Given the description of an element on the screen output the (x, y) to click on. 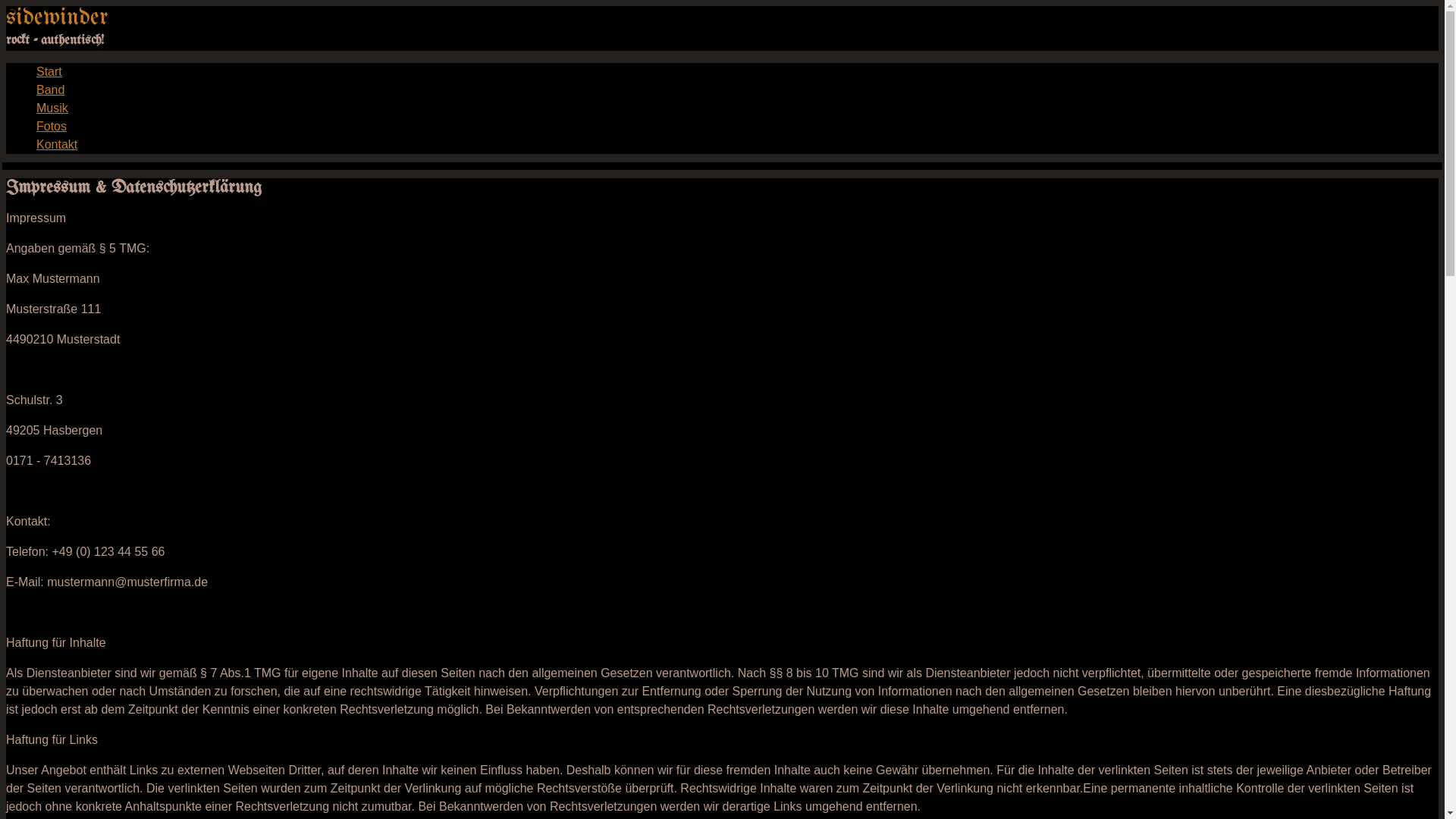
Start Element type: text (49, 71)
Musik Element type: text (52, 107)
Band Element type: text (50, 89)
Kontakt Element type: text (56, 144)
Fotos Element type: text (51, 125)
